Given the description of an element on the screen output the (x, y) to click on. 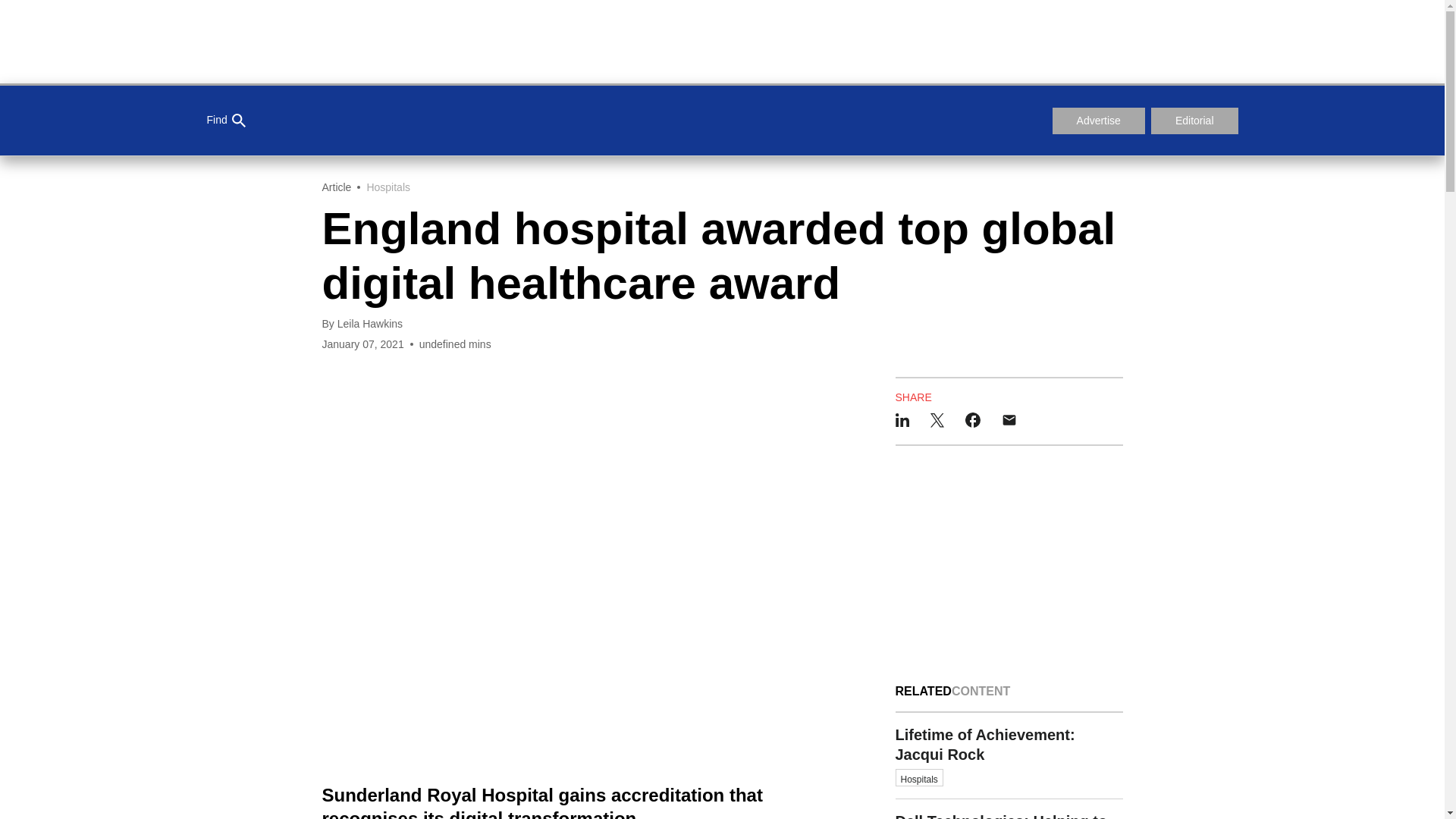
Advertise (1098, 121)
Dell Technologies: Helping to Make Healthcare More Human (1008, 809)
Find (1008, 756)
Editorial (225, 120)
